Given the description of an element on the screen output the (x, y) to click on. 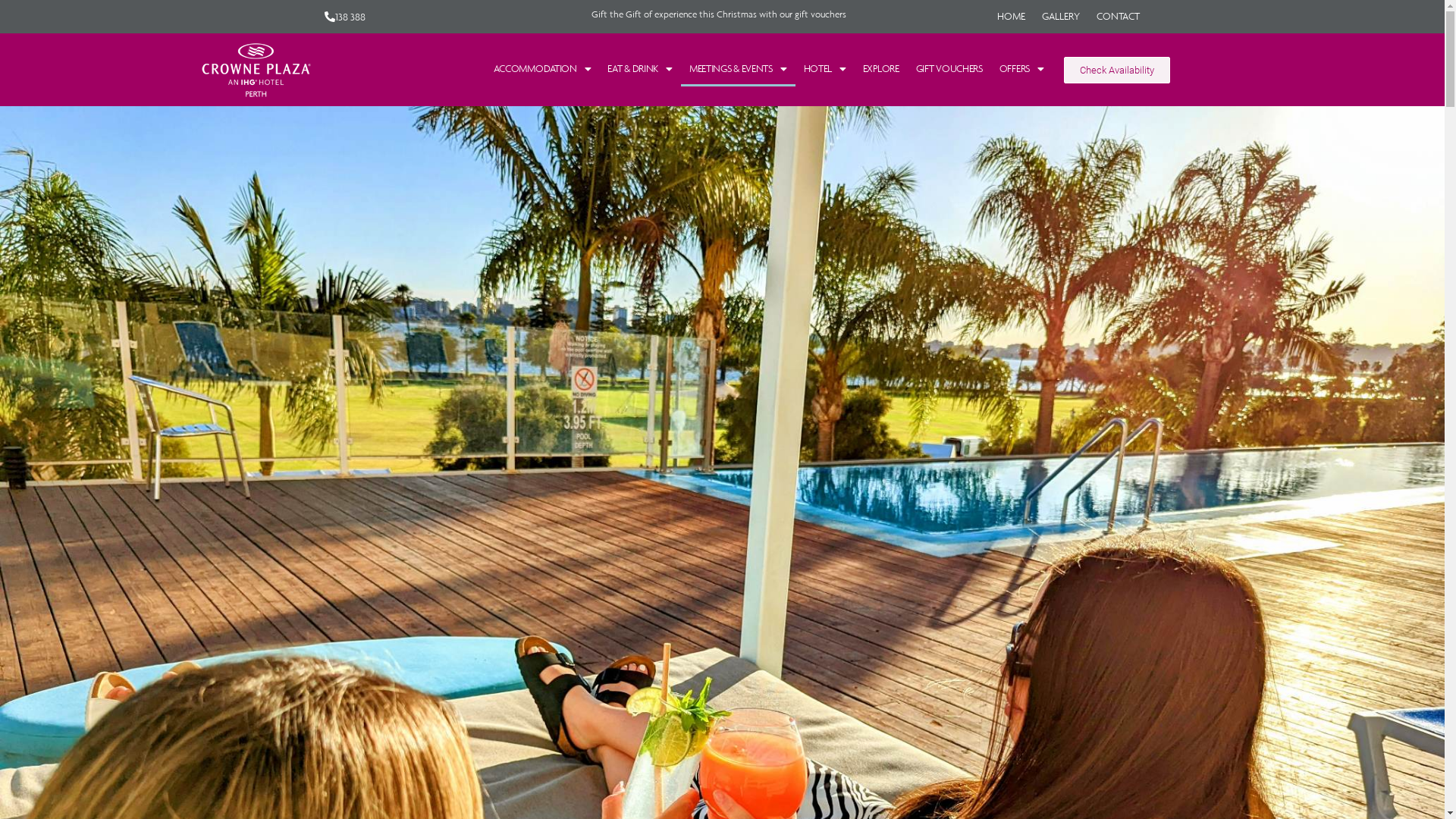
ACCOMMODATION Element type: text (542, 68)
OFFERS Element type: text (1021, 68)
CONTACT Element type: text (1118, 16)
138 388 Element type: text (344, 16)
MEETINGS & EVENTS Element type: text (737, 68)
Check Availability Element type: text (1116, 69)
Crowne-Plaza-Perth-Logo-Main-small.png Element type: hover (255, 69)
GALLERY Element type: text (1060, 16)
HOTEL Element type: text (823, 68)
EAT & DRINK Element type: text (639, 68)
HOME Element type: text (1010, 16)
GIFT VOUCHERS Element type: text (949, 68)
EXPLORE Element type: text (880, 68)
